Given the description of an element on the screen output the (x, y) to click on. 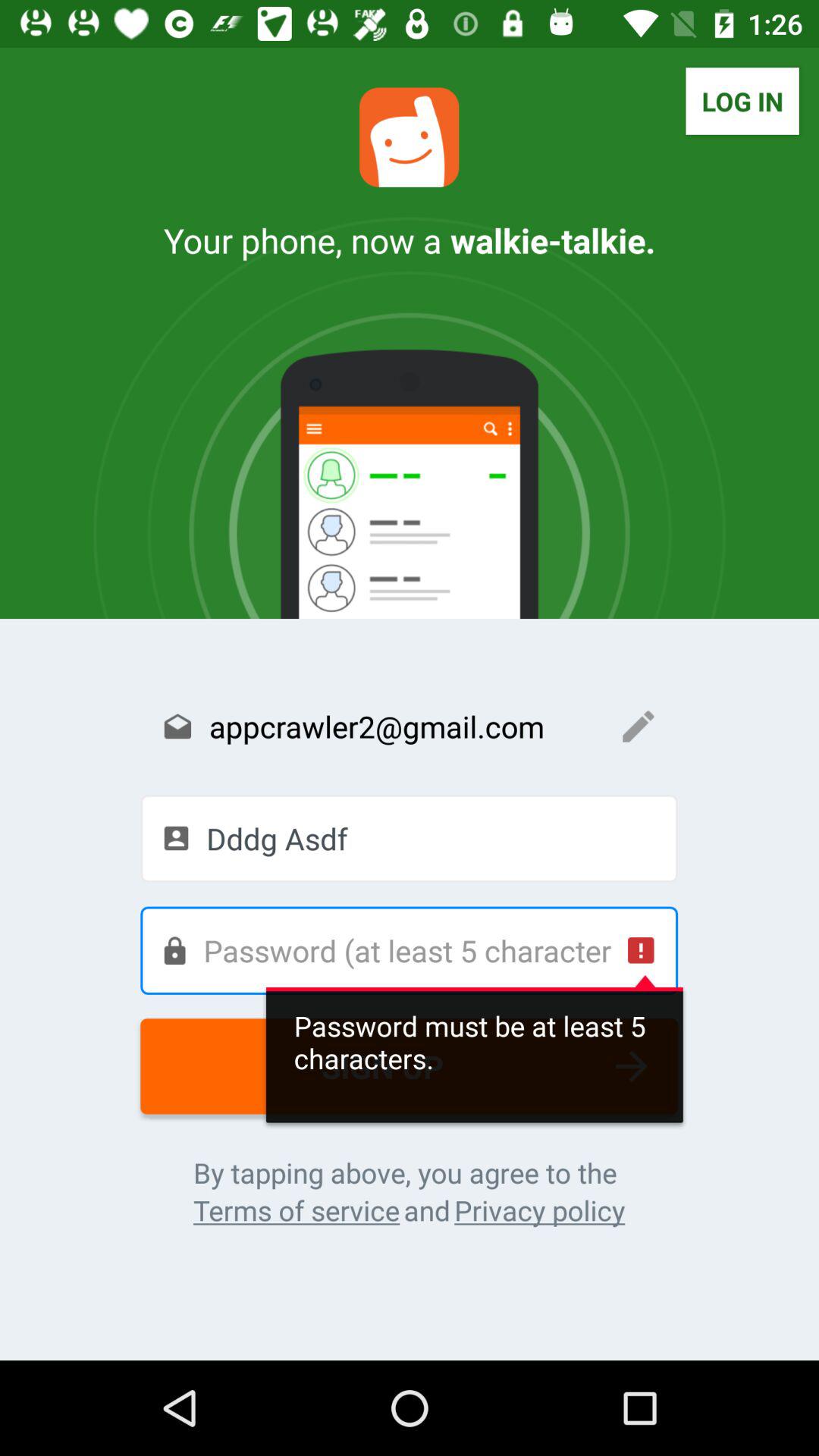
flip to appcrawler2@gmail.com item (408, 726)
